Given the description of an element on the screen output the (x, y) to click on. 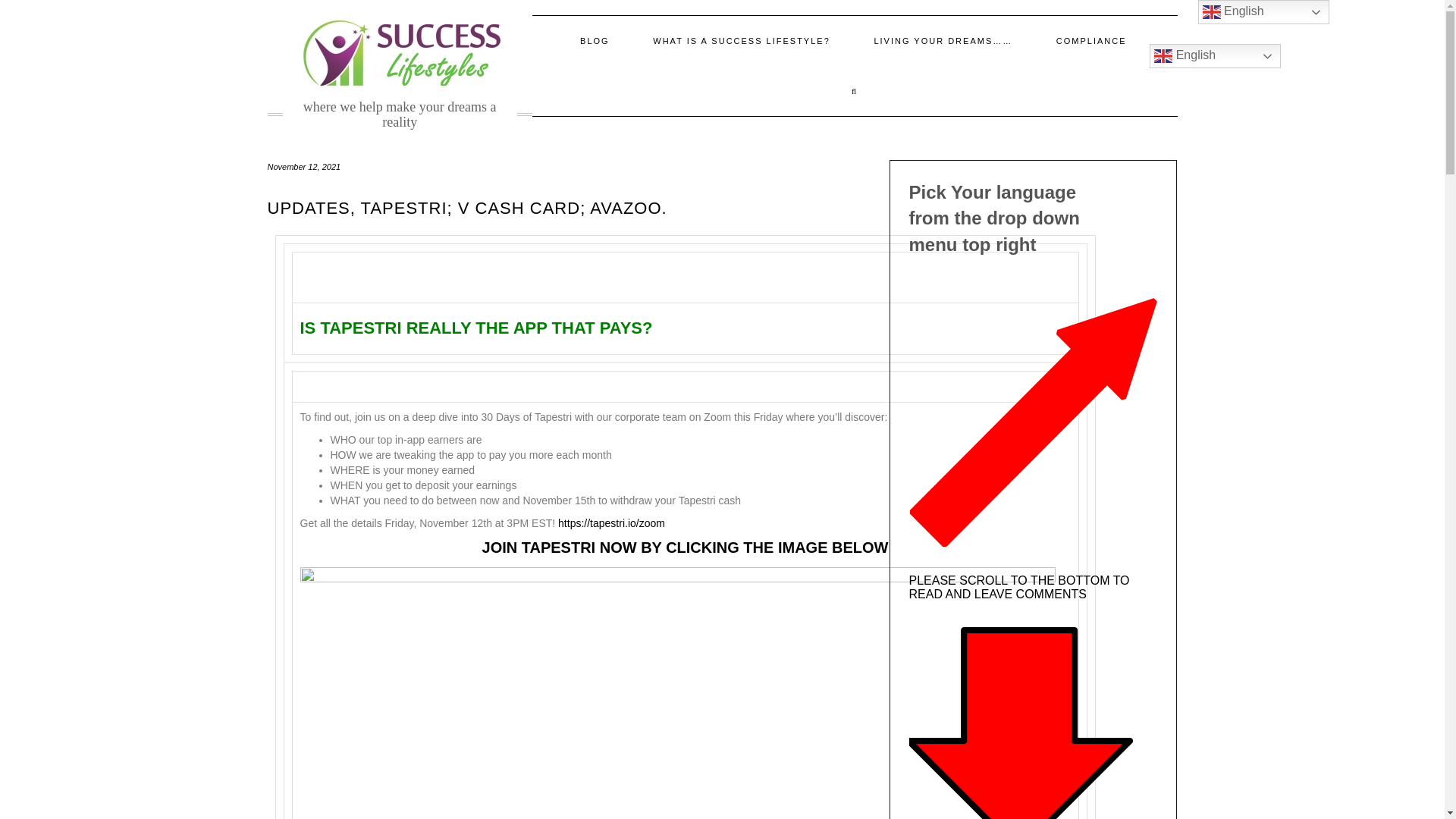
BLOG (594, 40)
WHAT IS A SUCCESS LIFESTYLE? (740, 40)
COMPLIANCE (1091, 40)
